Given the description of an element on the screen output the (x, y) to click on. 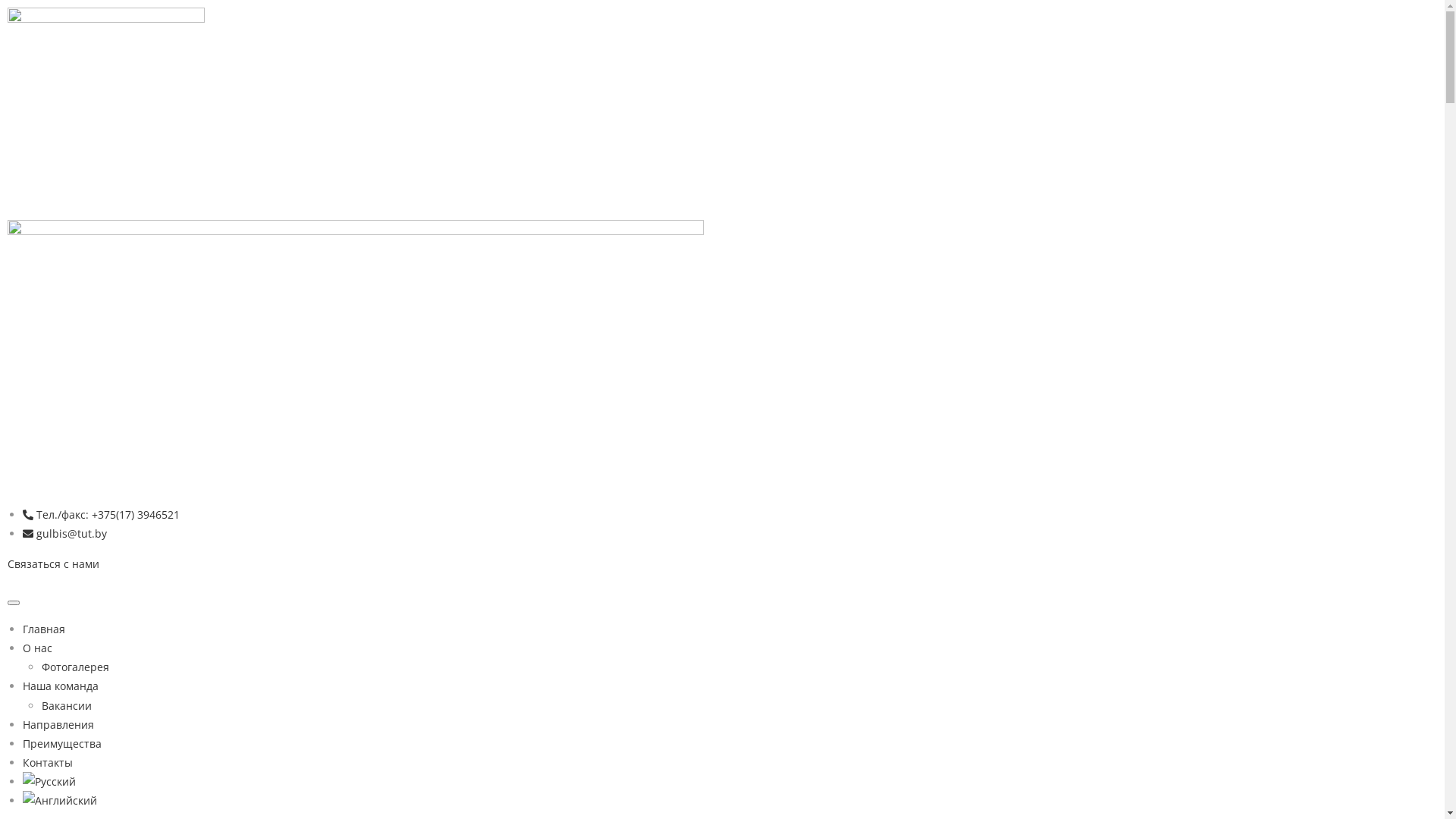
gulbis@tut.by Element type: text (64, 533)
